Given the description of an element on the screen output the (x, y) to click on. 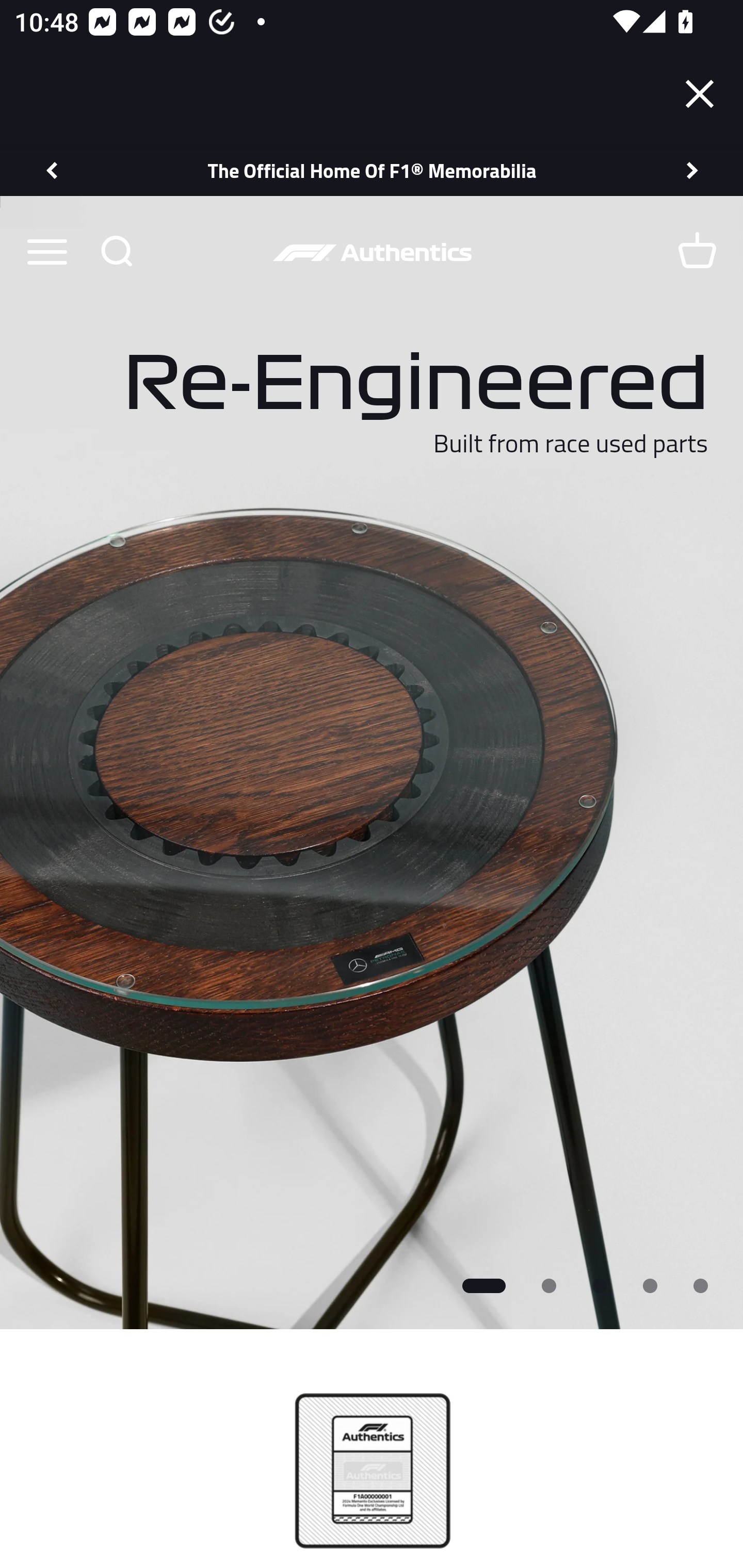
Close (699, 93)
Previous (50, 170)
Next (693, 170)
Open navigation menu (46, 251)
Open search (115, 251)
Open cart (696, 251)
F1 Authentics F1 Authentics F1 Authentics (372, 251)
Go to item 1 (483, 1285)
Go to item 2 (548, 1285)
Go to item 4 (650, 1285)
Go to item 5 (701, 1285)
